Given the description of an element on the screen output the (x, y) to click on. 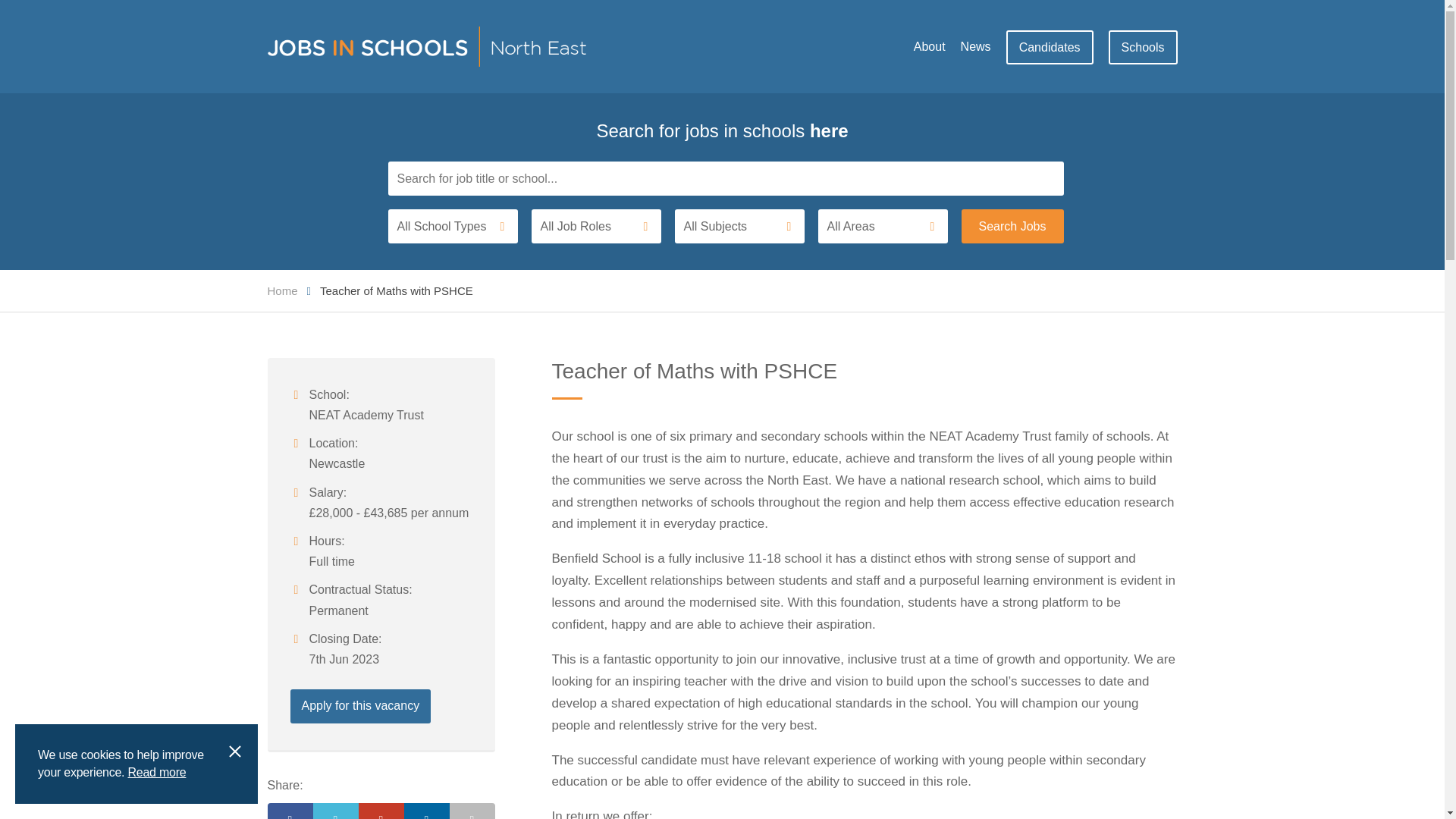
News (975, 46)
Read more (157, 784)
Search Jobs (1012, 226)
About (929, 46)
Schools (1142, 47)
Candidates (1049, 47)
